Given the description of an element on the screen output the (x, y) to click on. 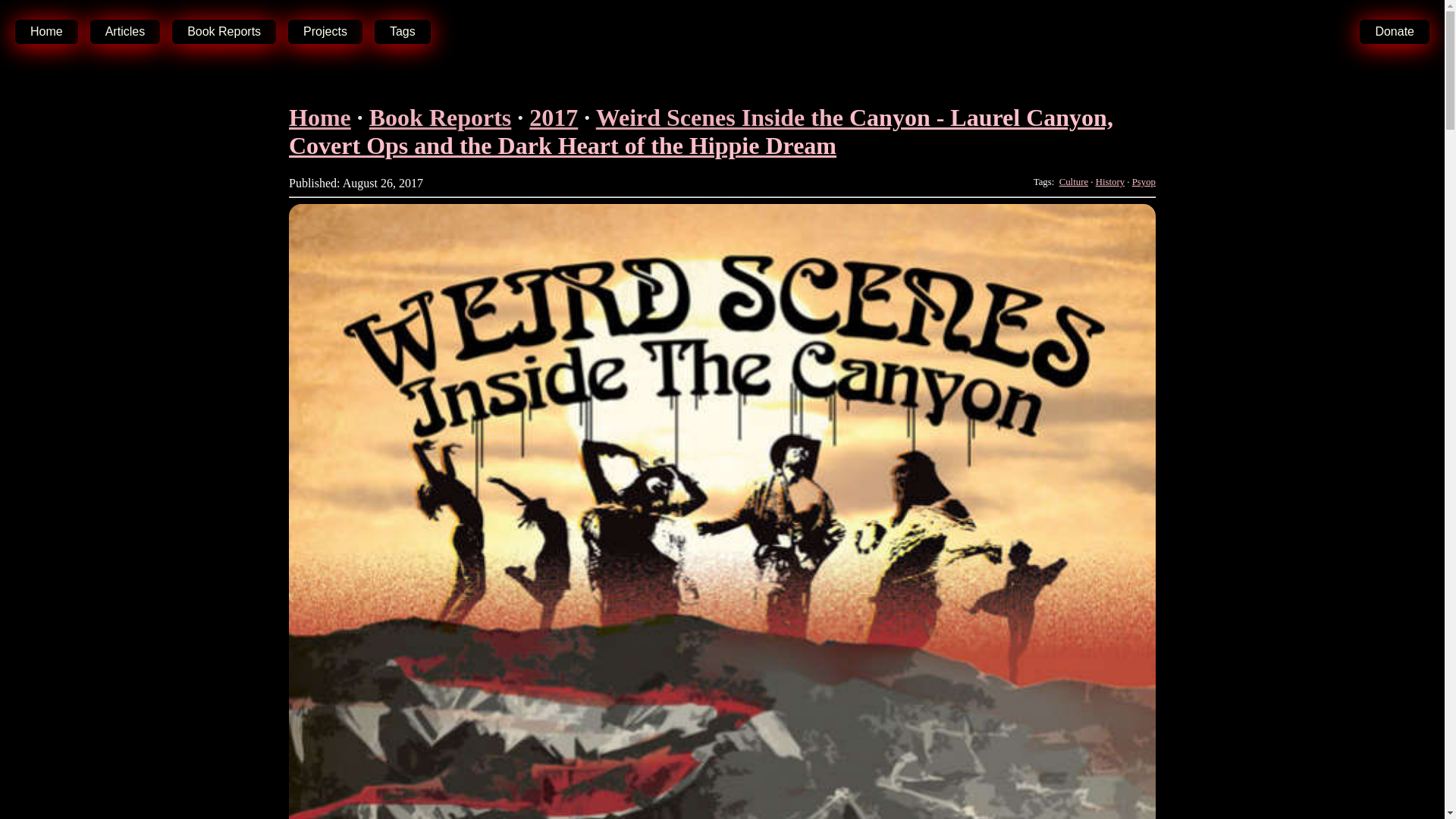
Culture (1073, 181)
Articles (130, 31)
2017 (553, 117)
Tags (408, 31)
Donate (1394, 31)
Projects (331, 31)
Home (319, 117)
Home (52, 31)
Book Reports (440, 117)
